Given the description of an element on the screen output the (x, y) to click on. 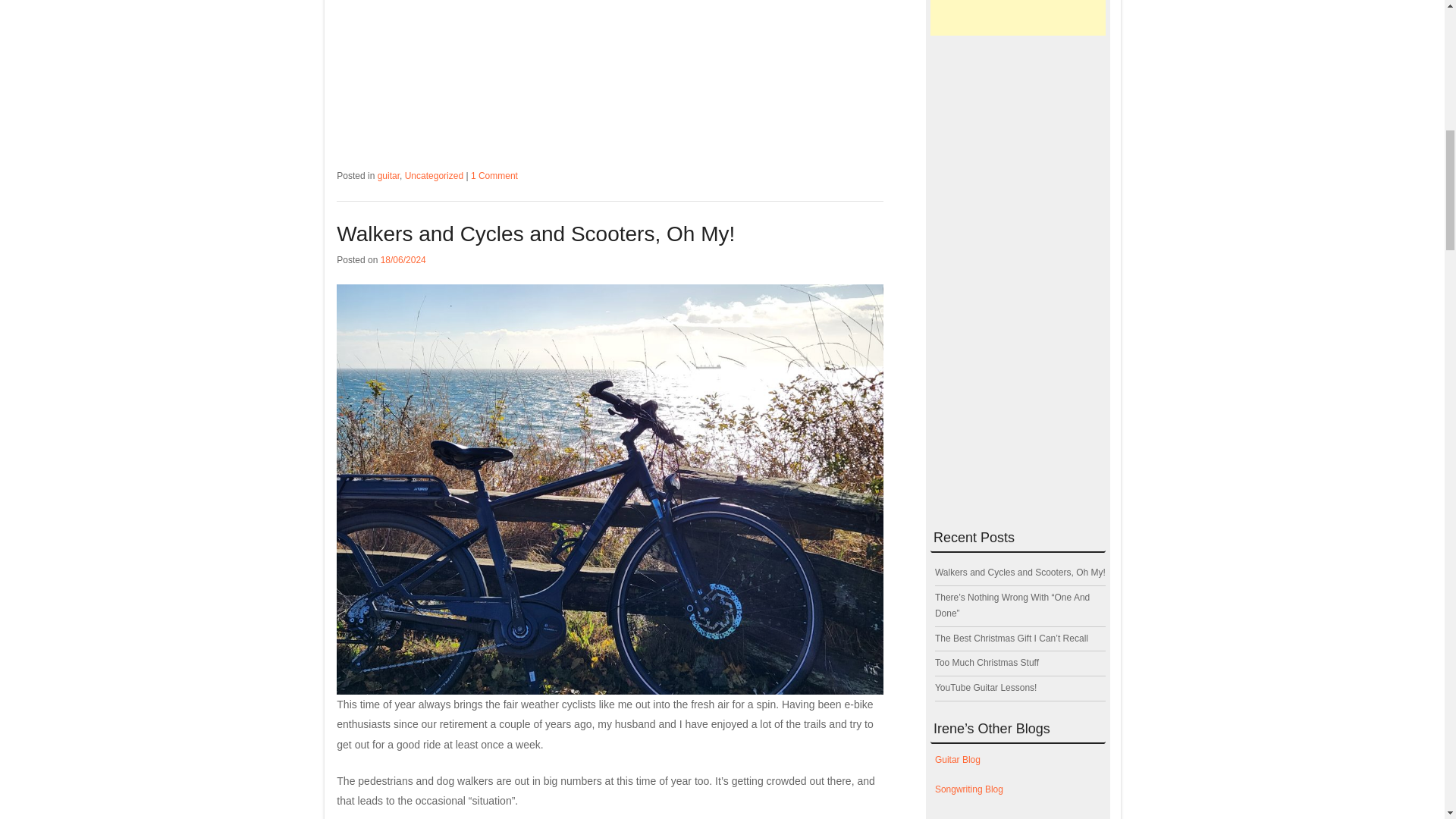
Advertisement (609, 72)
7:49 am (403, 259)
Walkers and Cycles and Scooters, Oh My! (535, 233)
Permalink to Walkers and Cycles and Scooters, Oh My! (535, 233)
1 Comment (494, 175)
guitar (387, 175)
Uncategorized (433, 175)
